Given the description of an element on the screen output the (x, y) to click on. 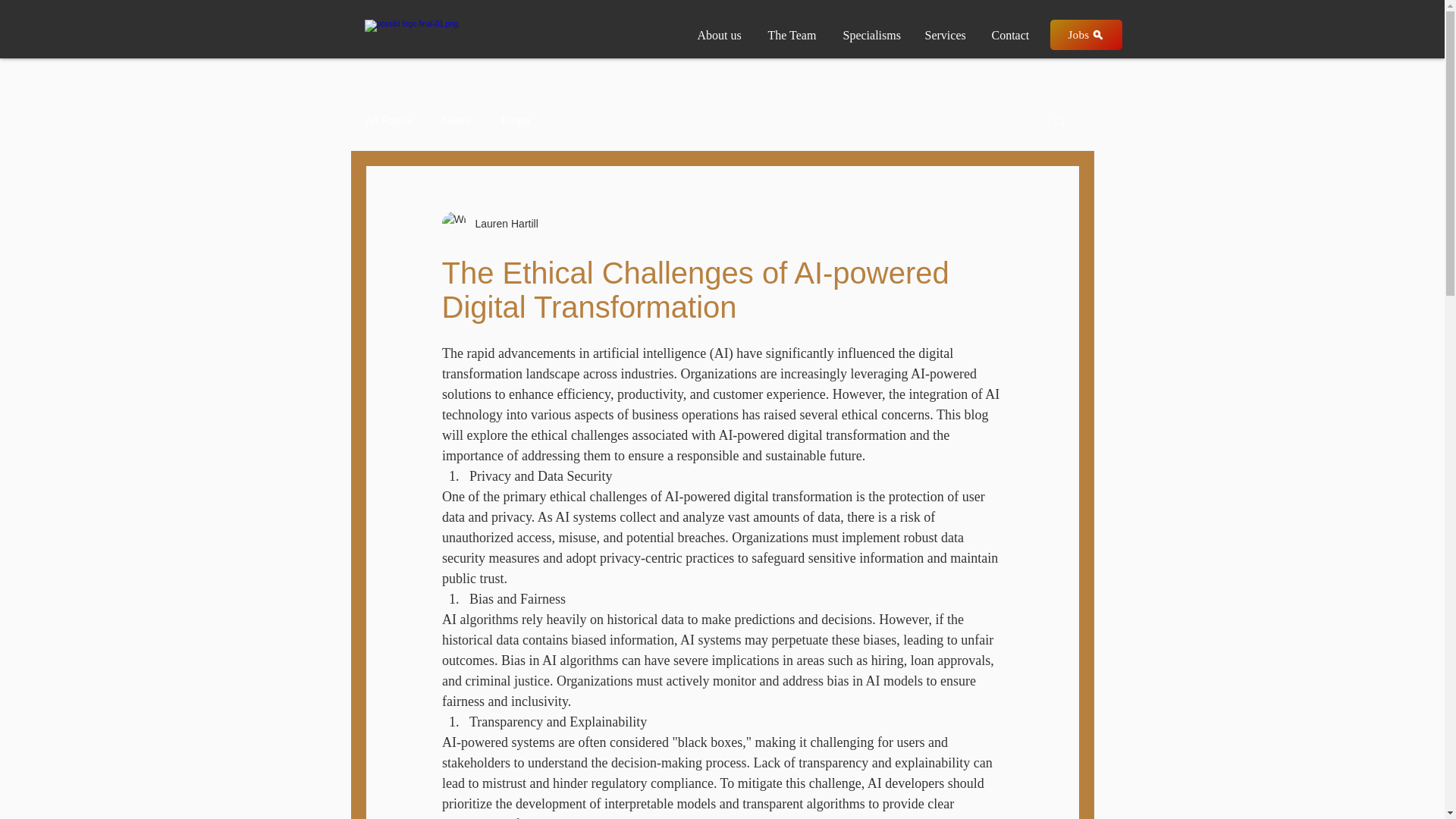
Lauren Hartill (489, 223)
Contact (1012, 28)
Jobs (1085, 34)
About us (720, 28)
News (456, 119)
Blogs (515, 119)
All Posts (388, 119)
Lauren Hartill (501, 222)
The Team (792, 28)
